Given the description of an element on the screen output the (x, y) to click on. 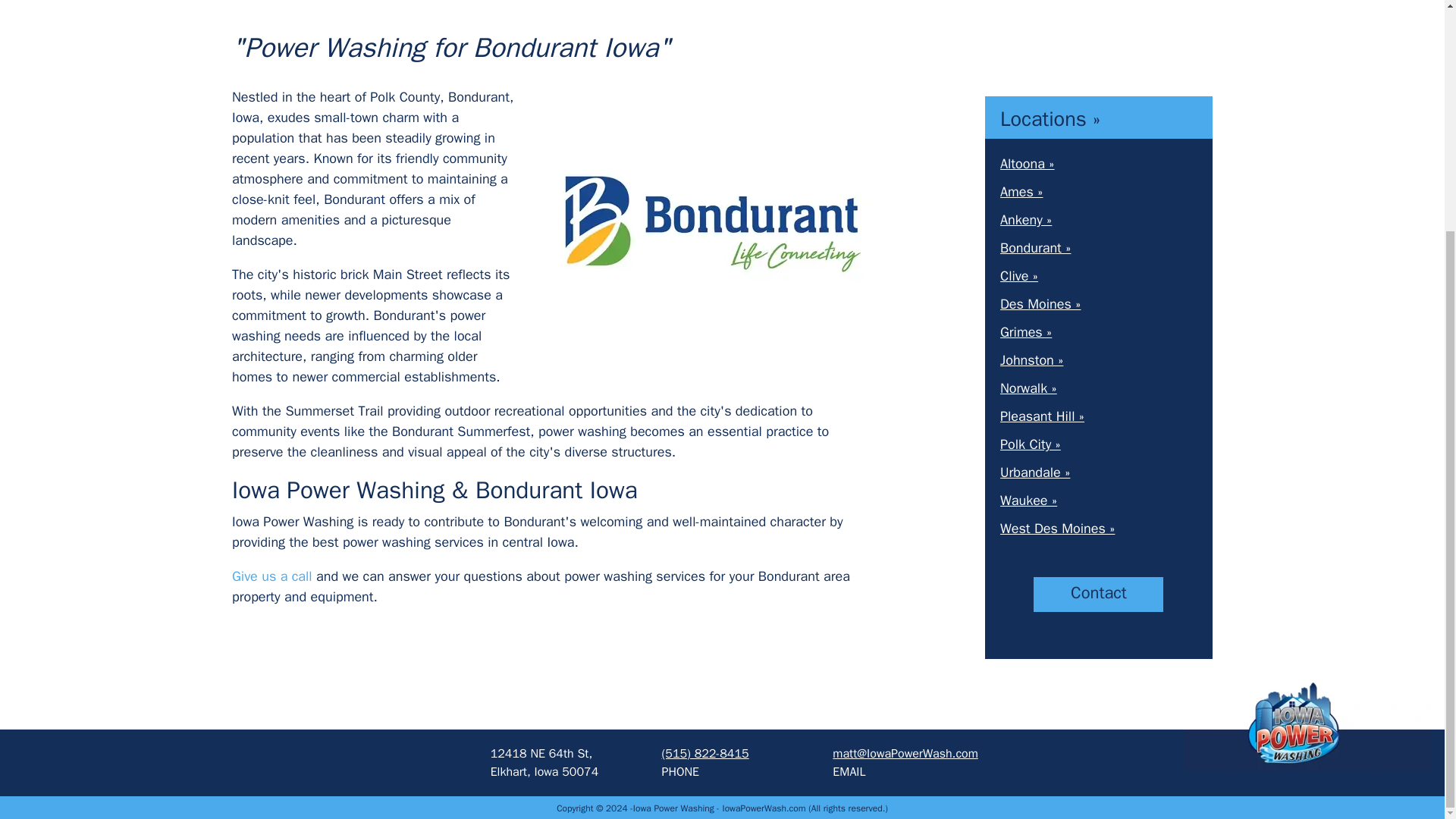
Clive Pressure Washing and Cleaning Solutions (1019, 275)
Contact (1098, 594)
Give us a call (272, 576)
Altoona Pressure Washing and Cleaning Solutions (1027, 163)
Des Moines Pressure Washing and Cleaning Solutions (1040, 303)
Ankeny Pressure Washing and Cleaning Solutions (1025, 219)
Call Iowa Power Washing (272, 576)
Johnston Pressure Washing and Cleaning Solutions (1031, 360)
Power Washing in the Bondurant Area (711, 223)
Iowa Power Washing Service Locations (1050, 118)
Norwalk Pressure Washing and Cleaning Solutions (1028, 388)
Grimes Pressure Washing and Cleaning Solutions (1025, 331)
Bondurant Pressure Washing and Cleaning Solutions (1035, 247)
Ames Pressure Washing and Cleaning Solutions (1021, 191)
